Given the description of an element on the screen output the (x, y) to click on. 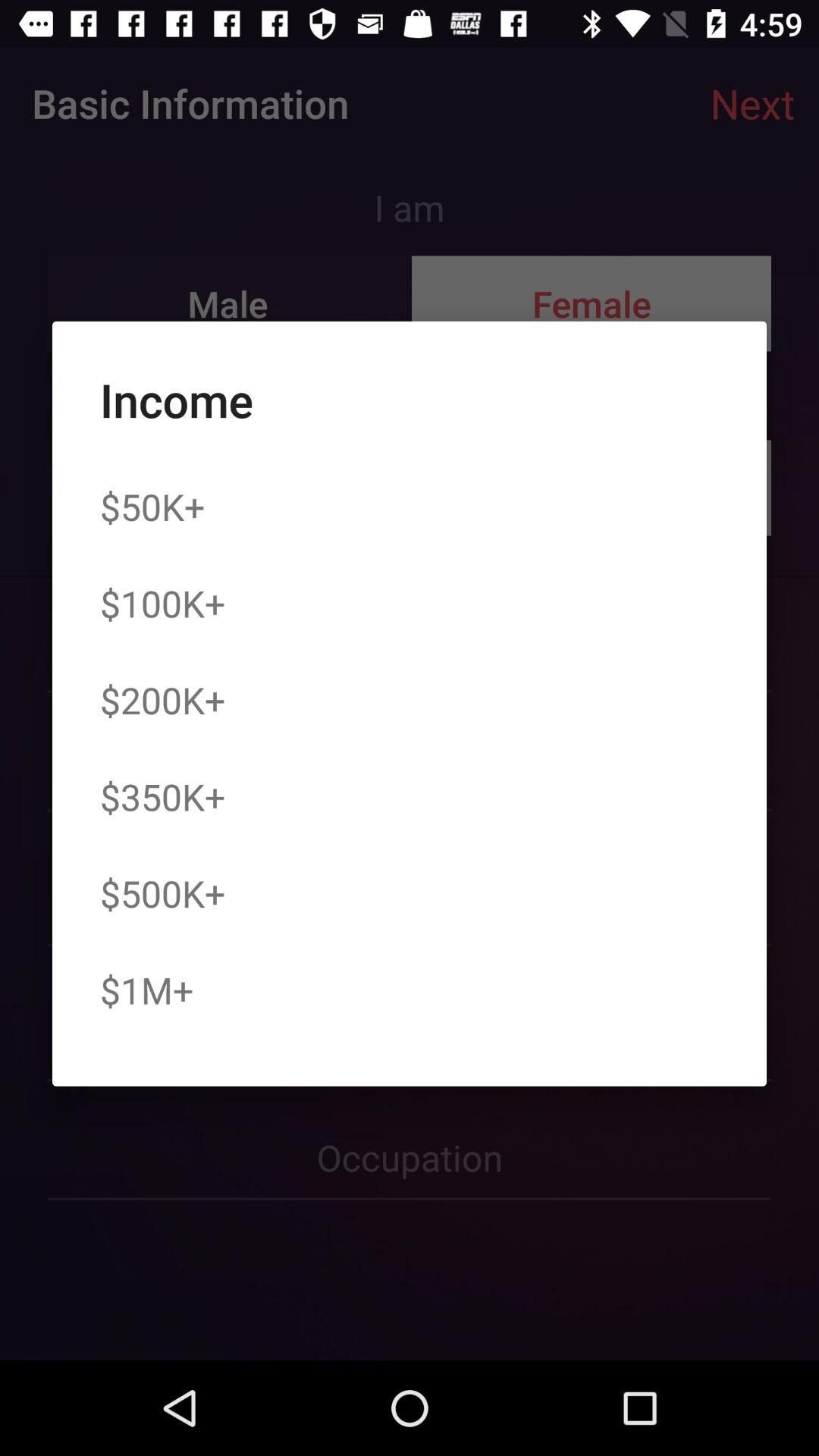
launch the item below the $50k+ icon (162, 603)
